Given the description of an element on the screen output the (x, y) to click on. 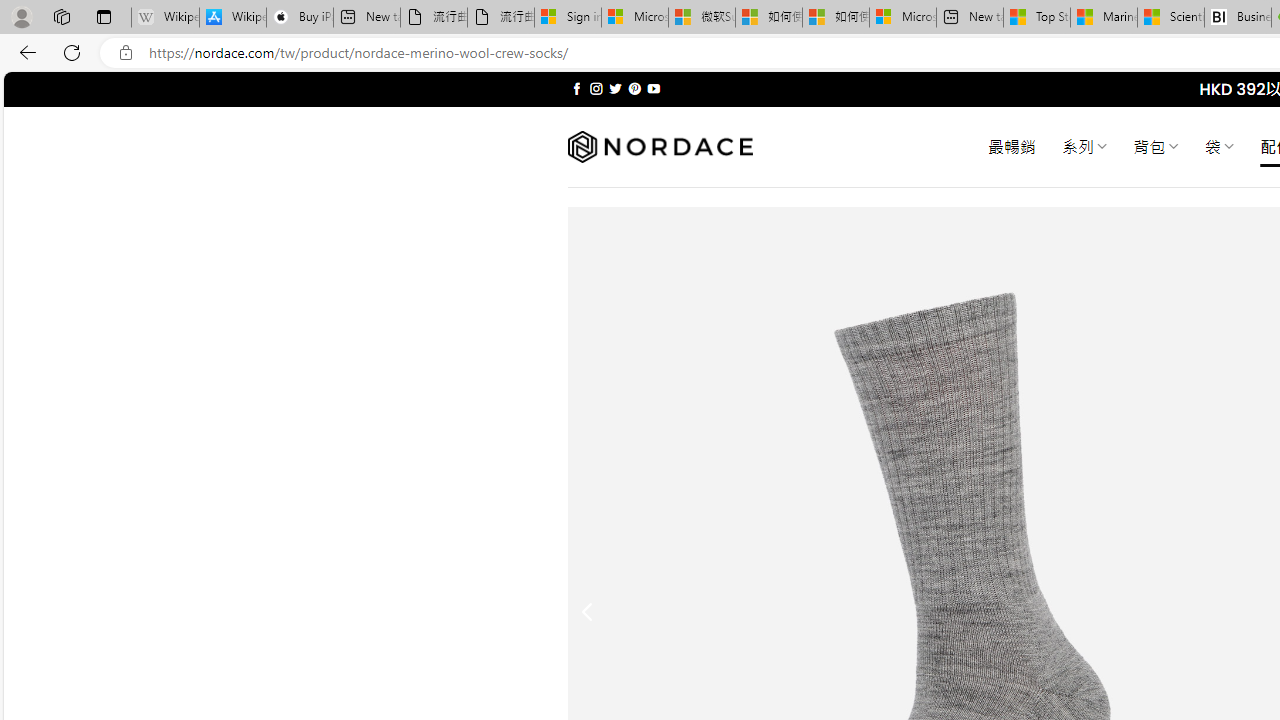
Follow on YouTube (653, 88)
Follow on Instagram (596, 88)
Microsoft account | Account Checkup (902, 17)
